Given the description of an element on the screen output the (x, y) to click on. 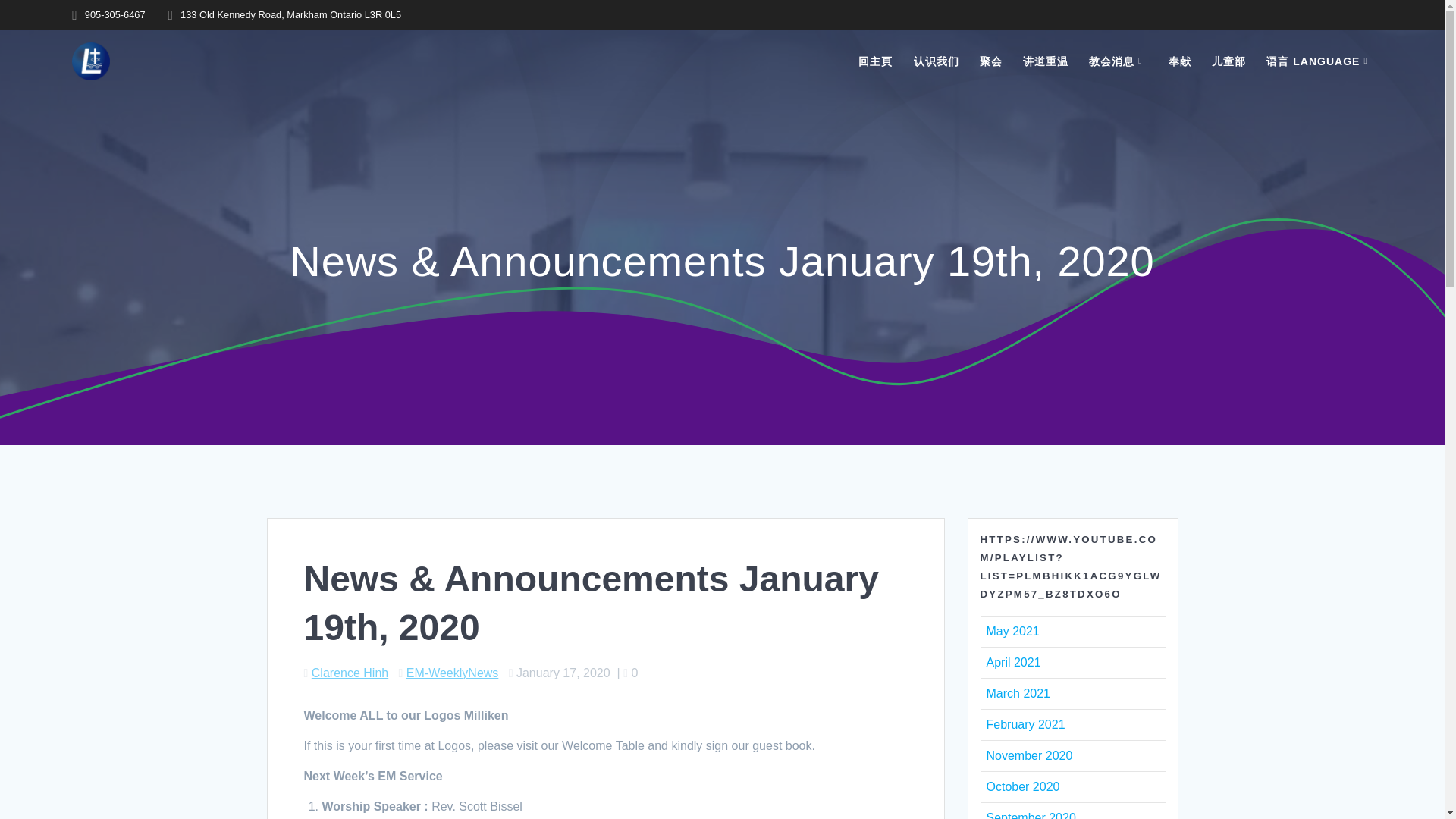
May 2021 (1012, 631)
September 2020 (1030, 815)
February 2021 (1024, 724)
Clarence Hinh (349, 672)
March 2021 (1017, 693)
October 2020 (1022, 786)
EM-WeeklyNews (452, 672)
April 2021 (1013, 662)
November 2020 (1028, 755)
